Given the description of an element on the screen output the (x, y) to click on. 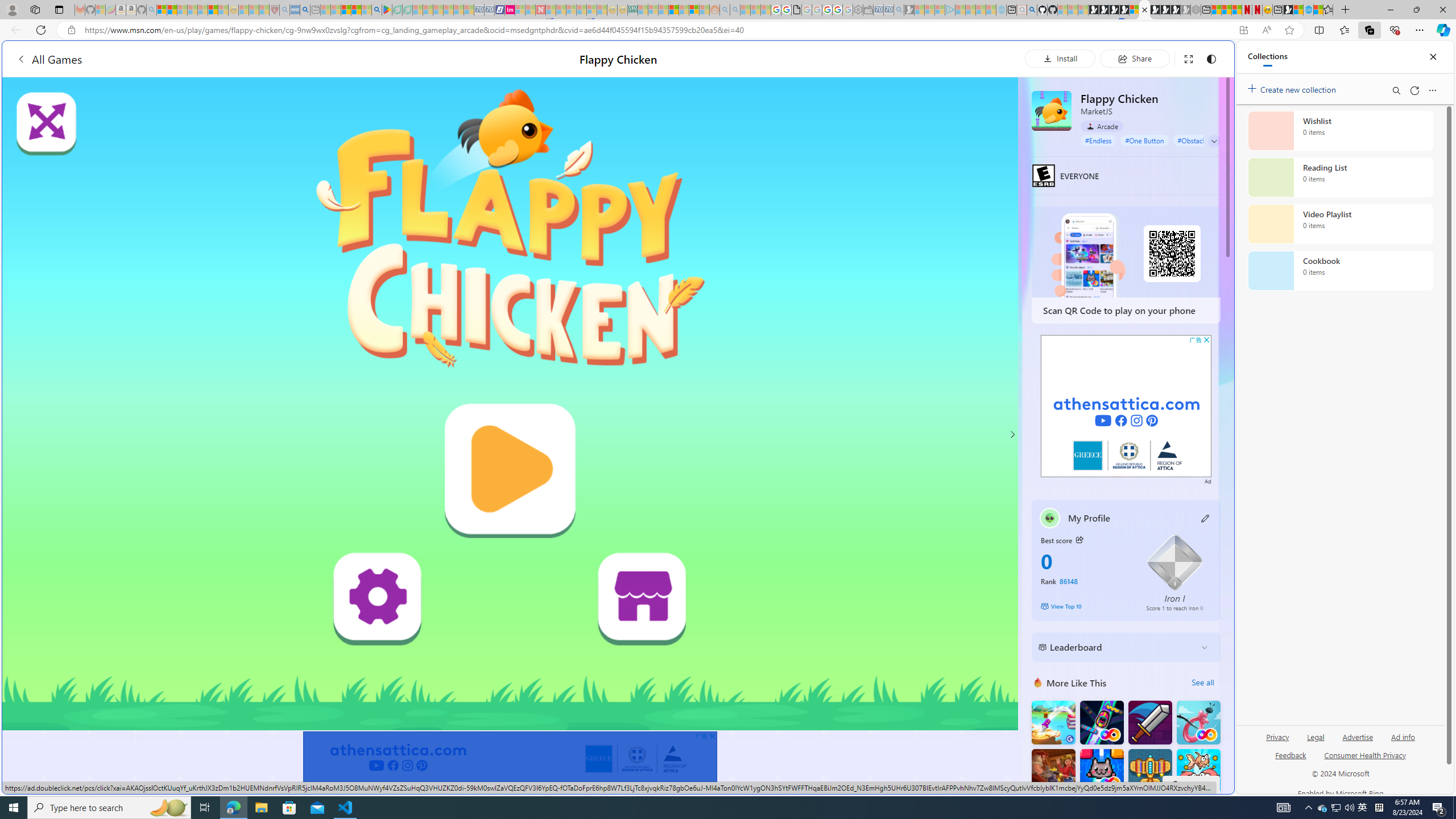
#One Button (1145, 140)
More options menu (1432, 90)
Class: expand-arrow neutral (1214, 141)
